Given the description of an element on the screen output the (x, y) to click on. 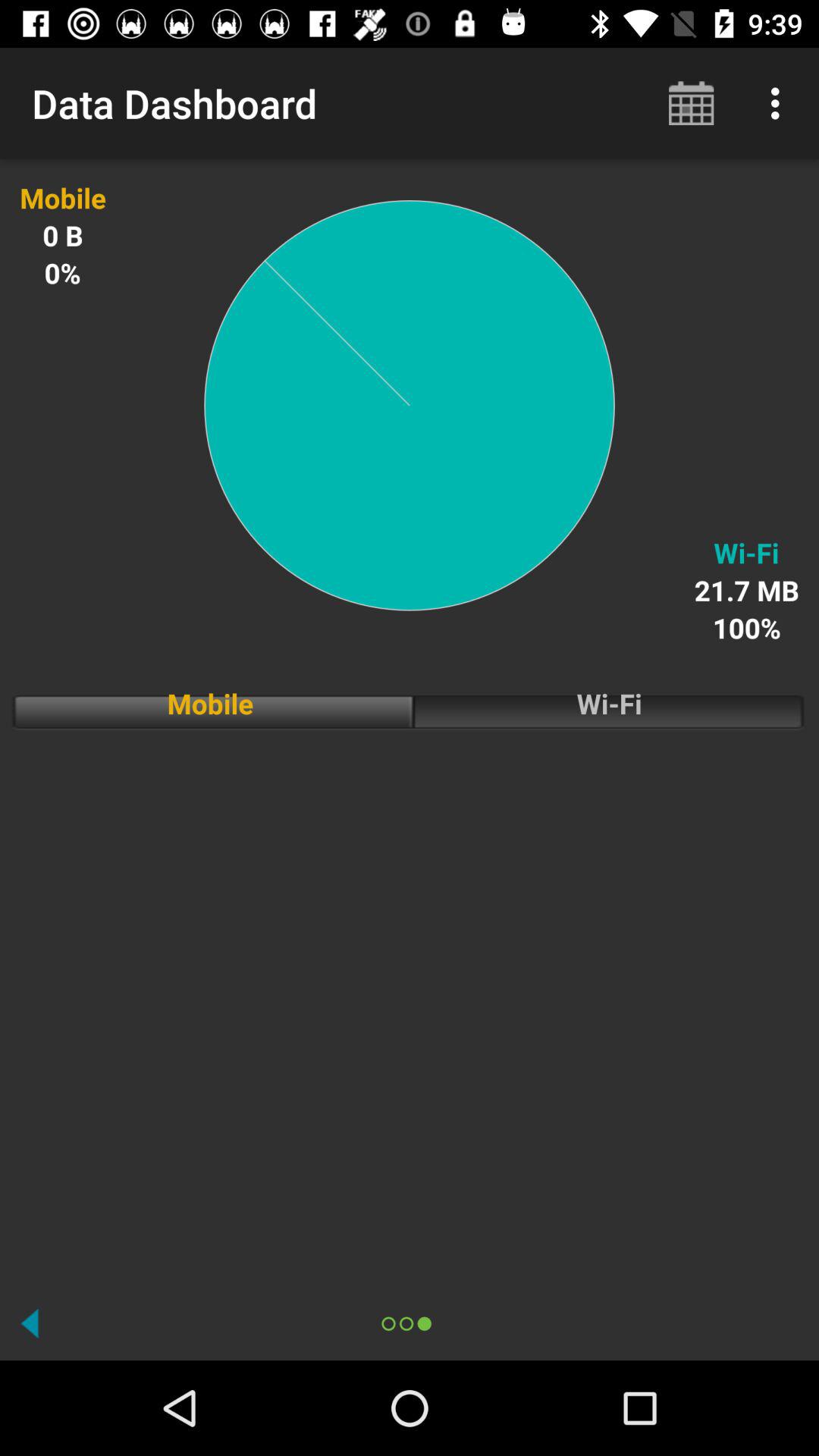
choose the item next to data dashboard item (691, 103)
